Given the description of an element on the screen output the (x, y) to click on. 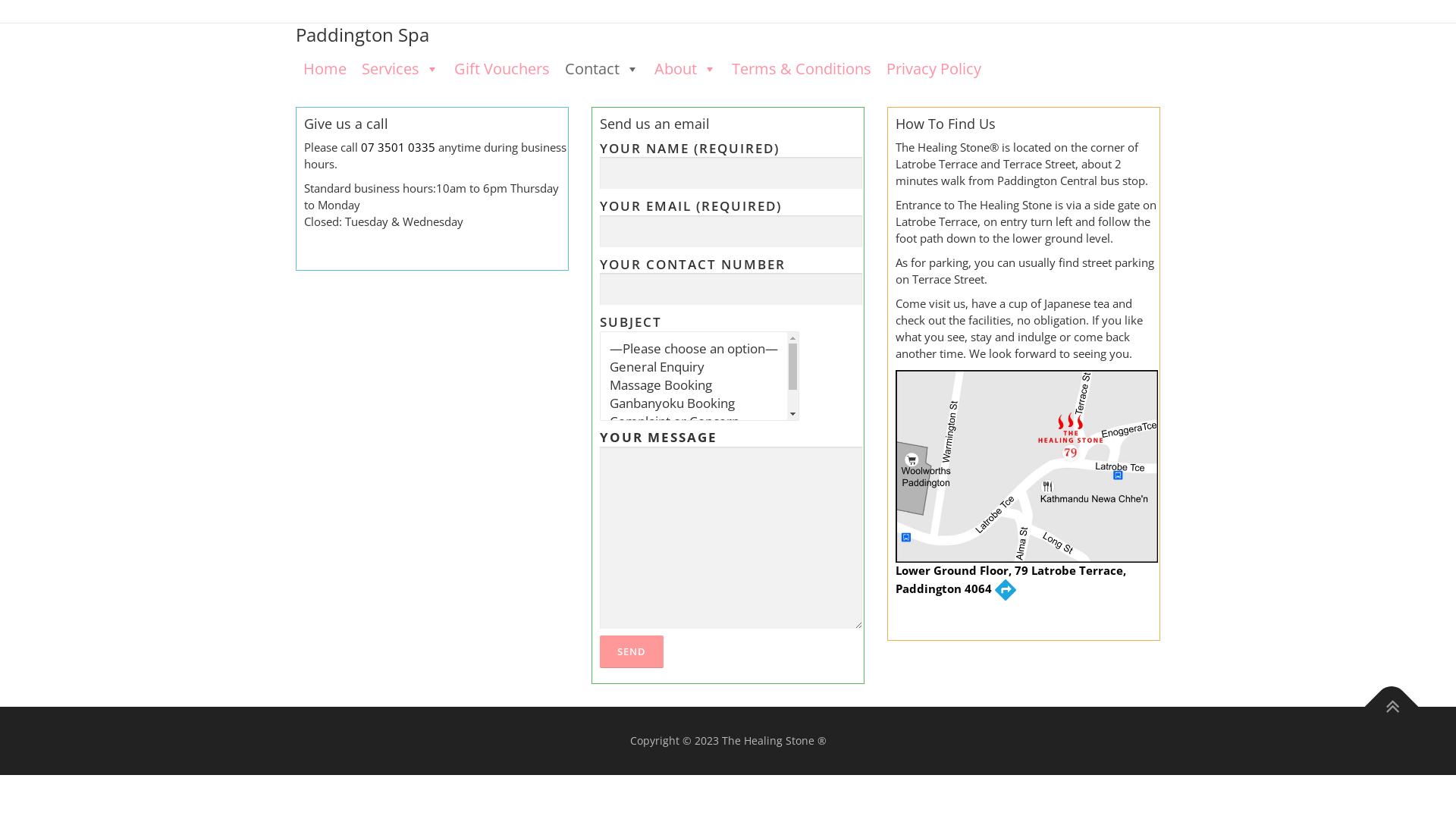
Terms & Conditions Element type: text (801, 68)
Lower Ground Floor, 79 Latrobe Terrace, Paddington 4064  Element type: text (1026, 526)
Privacy Policy Element type: text (933, 68)
Services Element type: text (400, 68)
Send Element type: text (631, 651)
Gift Vouchers Element type: text (501, 68)
Contact Element type: text (601, 68)
About Element type: text (685, 68)
07 3501 0335 Element type: text (397, 147)
Back To Top Element type: hover (1383, 699)
Home Element type: text (324, 68)
